Given the description of an element on the screen output the (x, y) to click on. 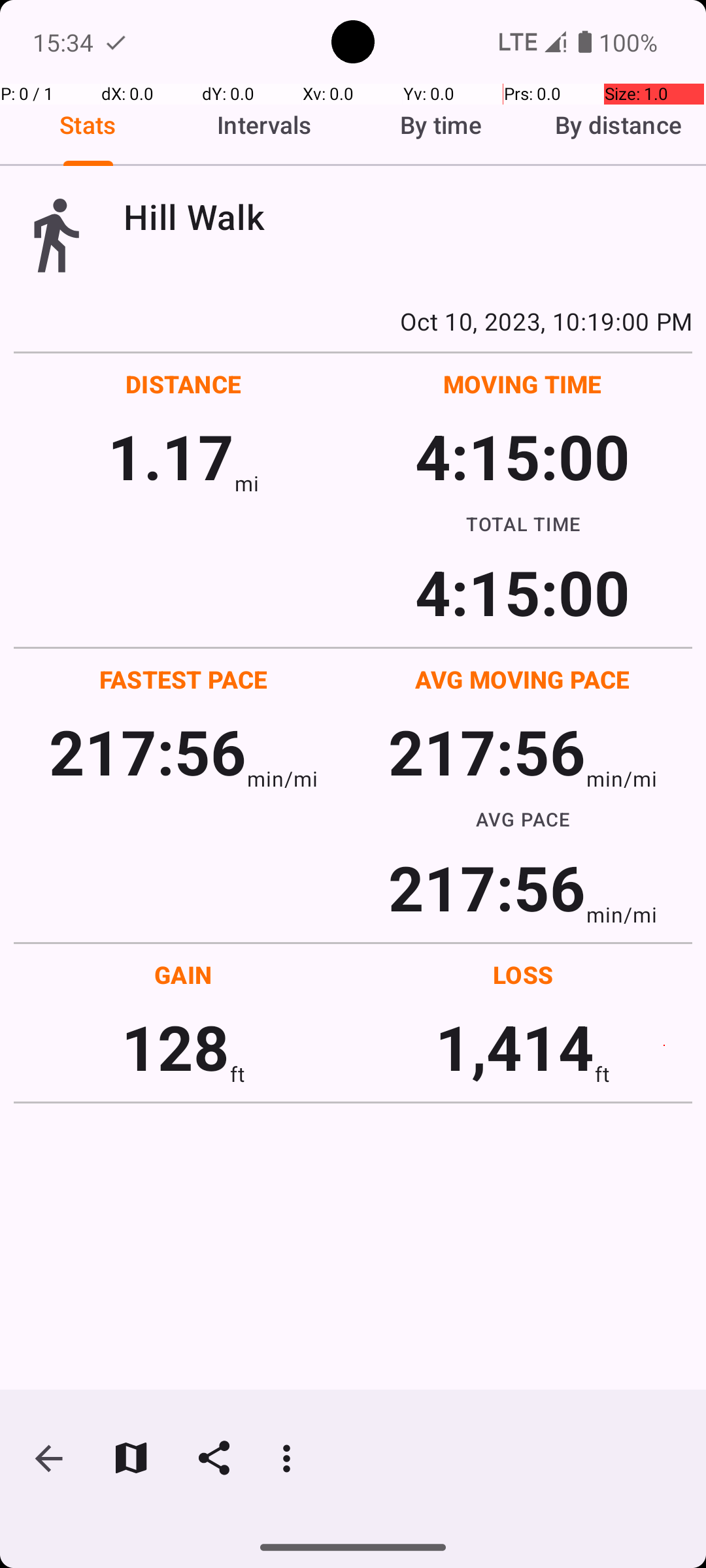
Hill Walk Element type: android.widget.TextView (407, 216)
Oct 10, 2023, 10:19:00 PM Element type: android.widget.TextView (352, 320)
1.17 Element type: android.widget.TextView (170, 455)
4:15:00 Element type: android.widget.TextView (522, 455)
217:56 Element type: android.widget.TextView (147, 750)
128 Element type: android.widget.TextView (175, 1045)
1,414 Element type: android.widget.TextView (514, 1045)
